Given the description of an element on the screen output the (x, y) to click on. 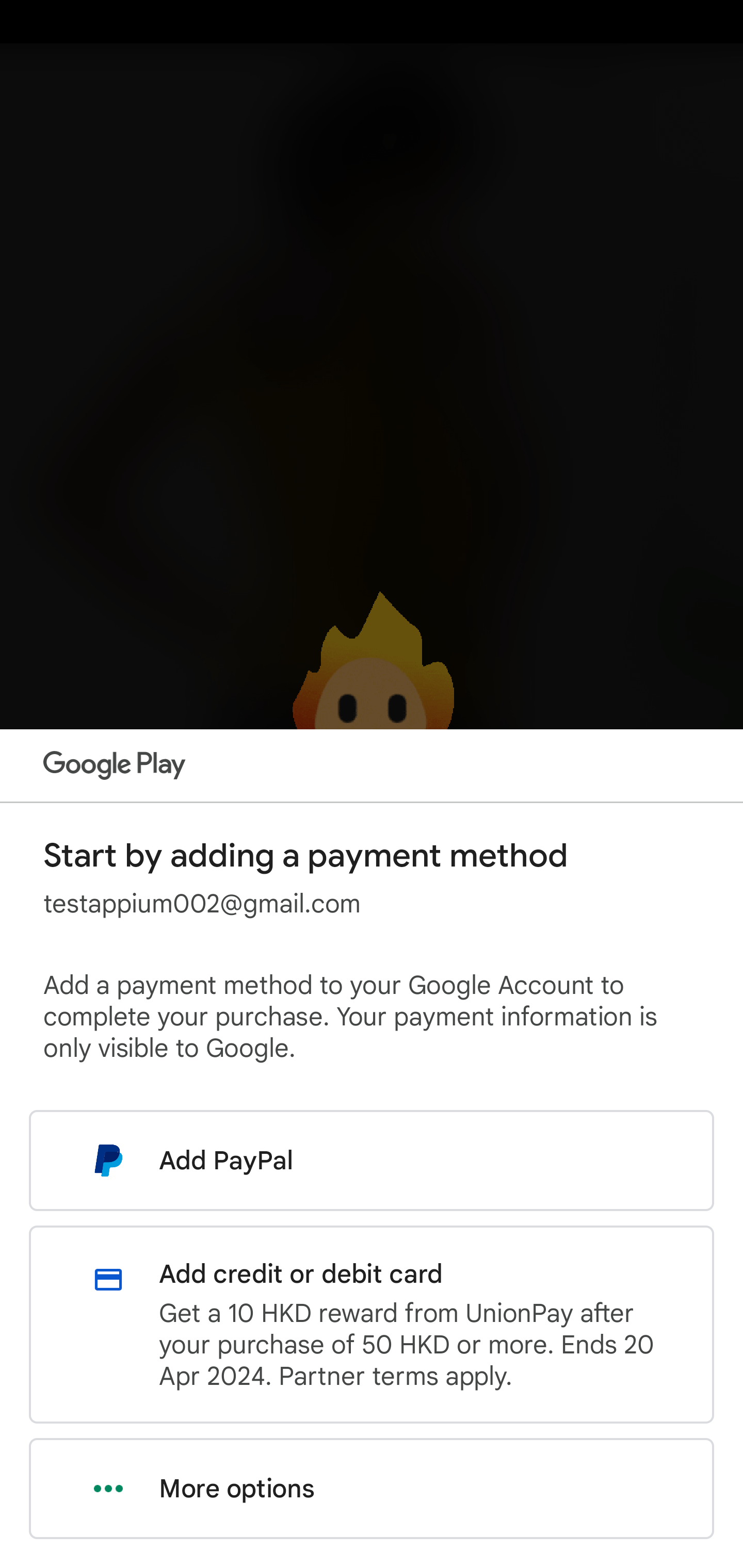
Add PayPal (371, 1160)
More options (371, 1488)
